Given the description of an element on the screen output the (x, y) to click on. 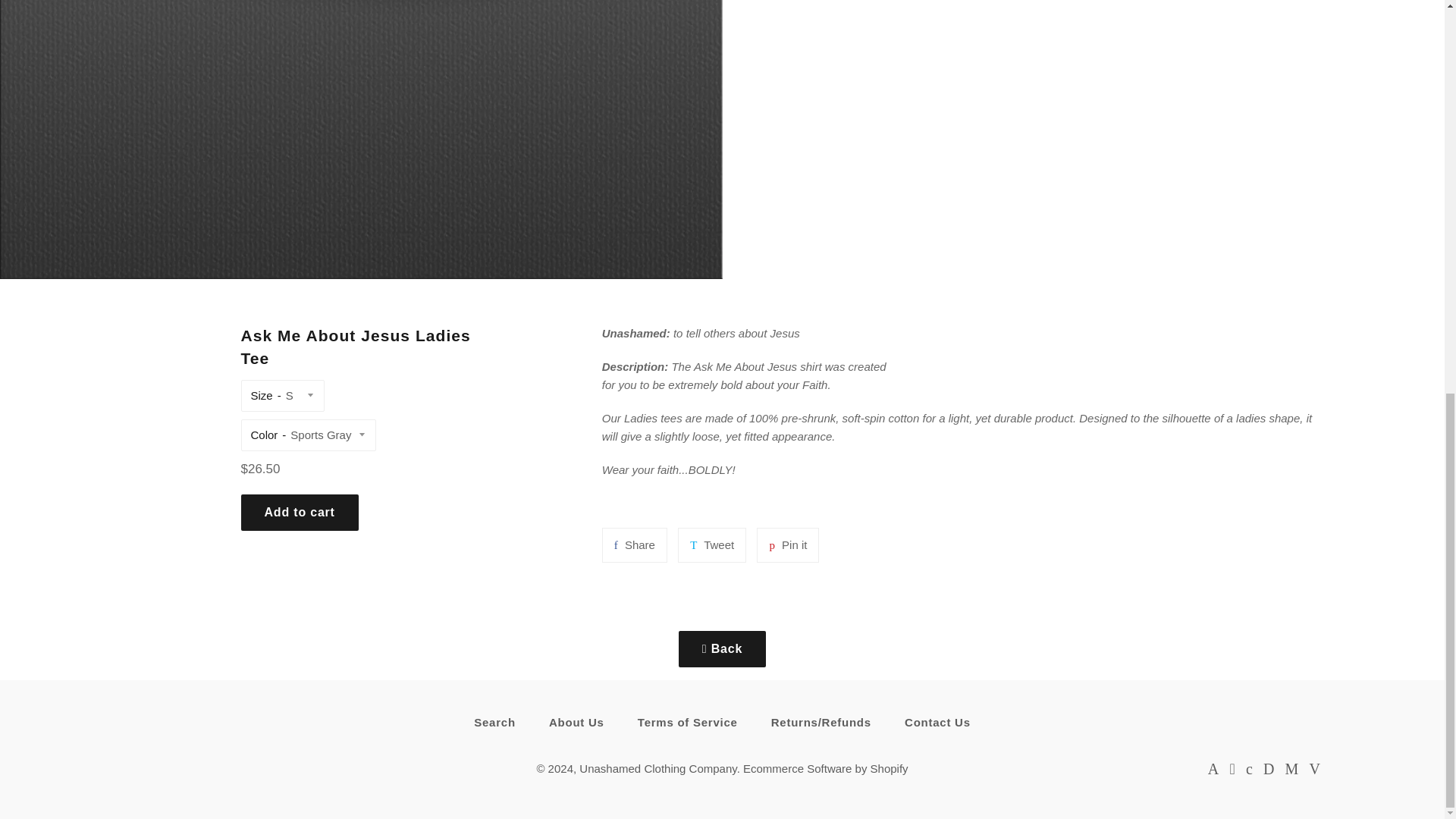
Contact Us (937, 721)
Share on Facebook (787, 544)
Terms of Service (634, 544)
Search (634, 544)
Pin on Pinterest (687, 721)
About Us (494, 721)
Ecommerce Software by Shopify (787, 544)
Tweet on Twitter (577, 721)
